Given the description of an element on the screen output the (x, y) to click on. 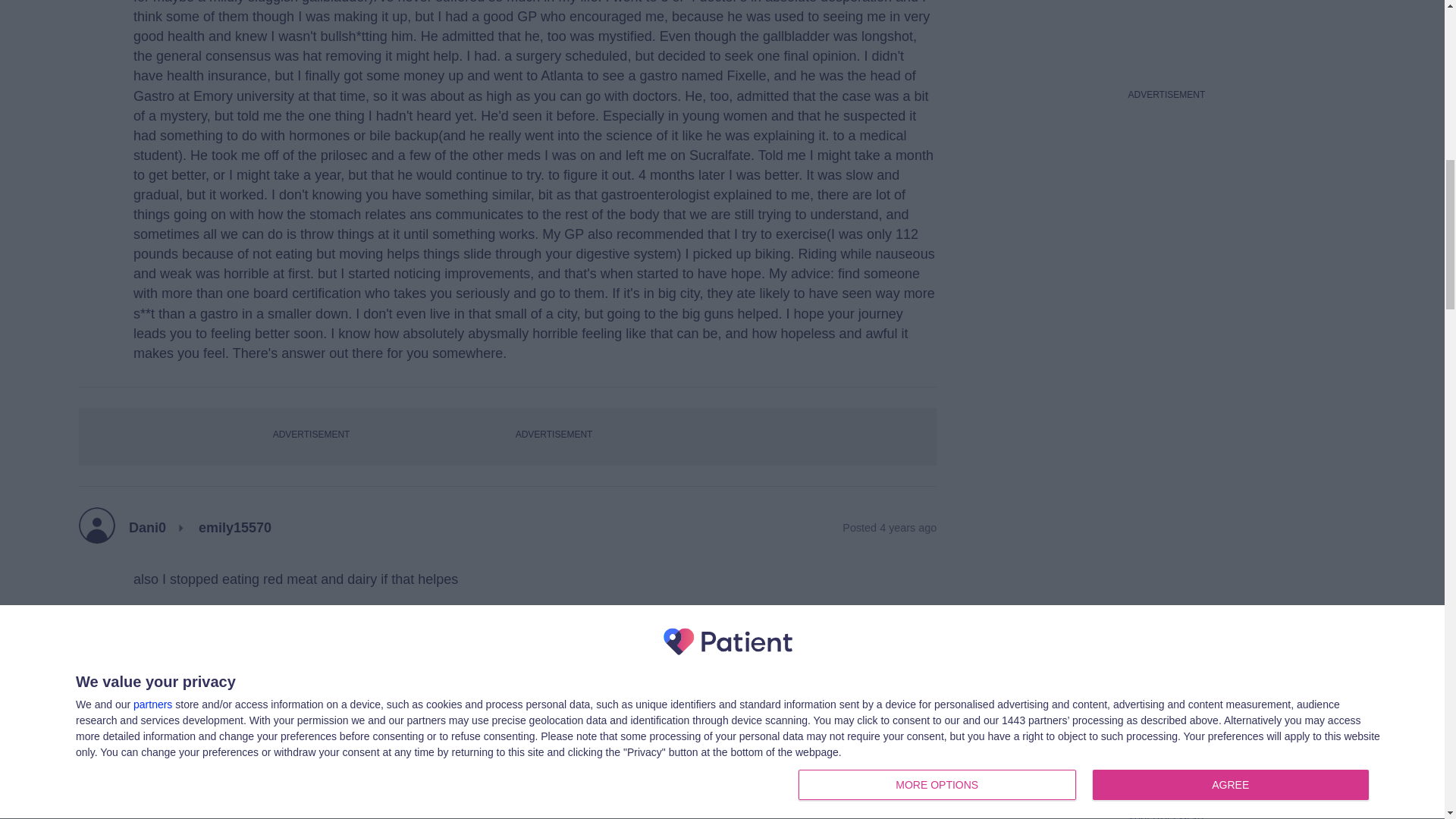
Dani0 (202, 669)
emily15570 (234, 528)
Dani0 (147, 528)
ickihun (152, 796)
View ickihun's profile (152, 796)
View Dani0's profile (202, 669)
View Dani0's profile (147, 528)
emily15570 (245, 796)
